Given the description of an element on the screen output the (x, y) to click on. 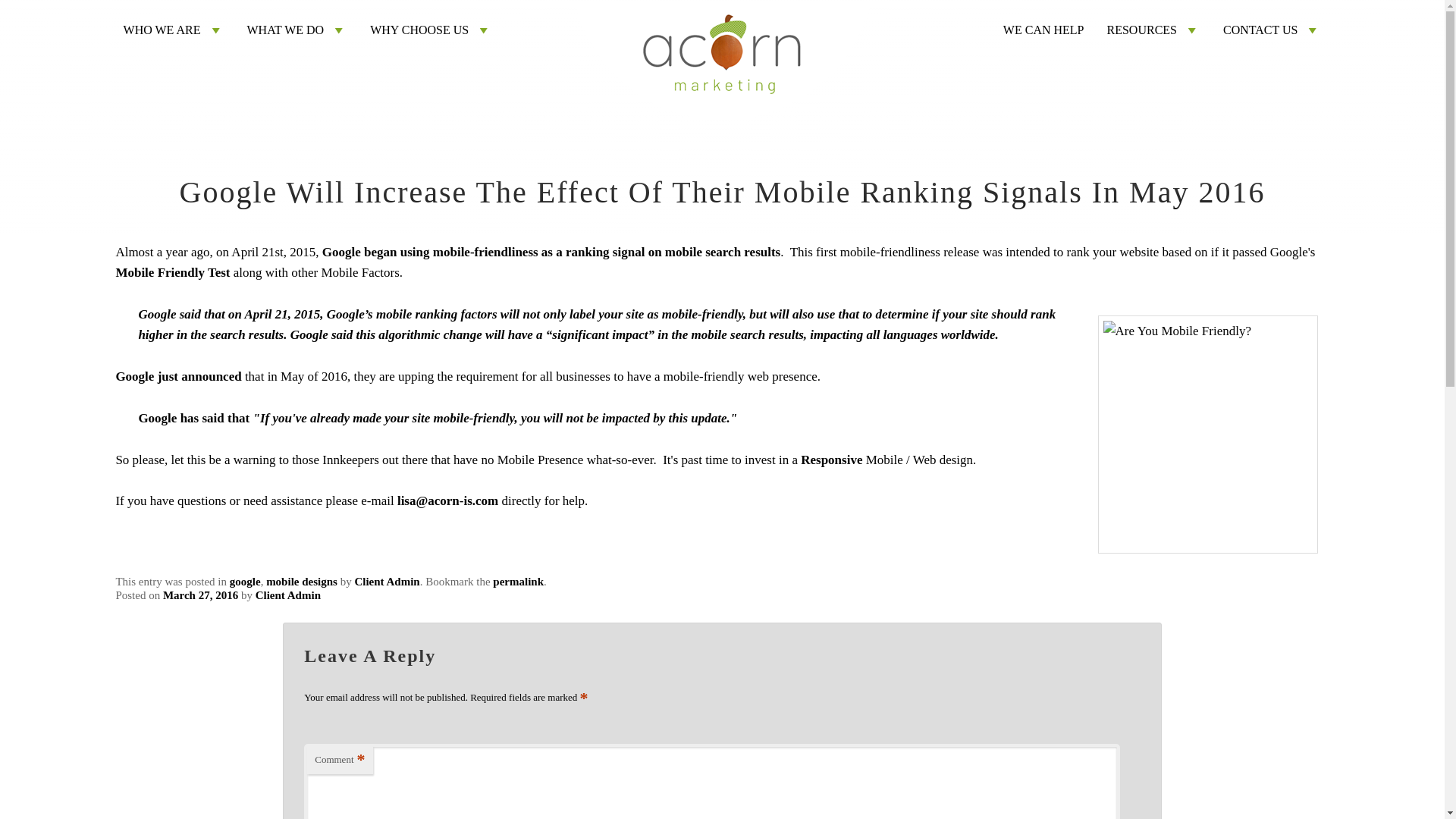
4:04 pm (200, 594)
Acorn Marketing (721, 142)
View all posts by Client Admin (288, 594)
WHO WE ARE (173, 30)
WHAT WE DO (297, 30)
